Given the description of an element on the screen output the (x, y) to click on. 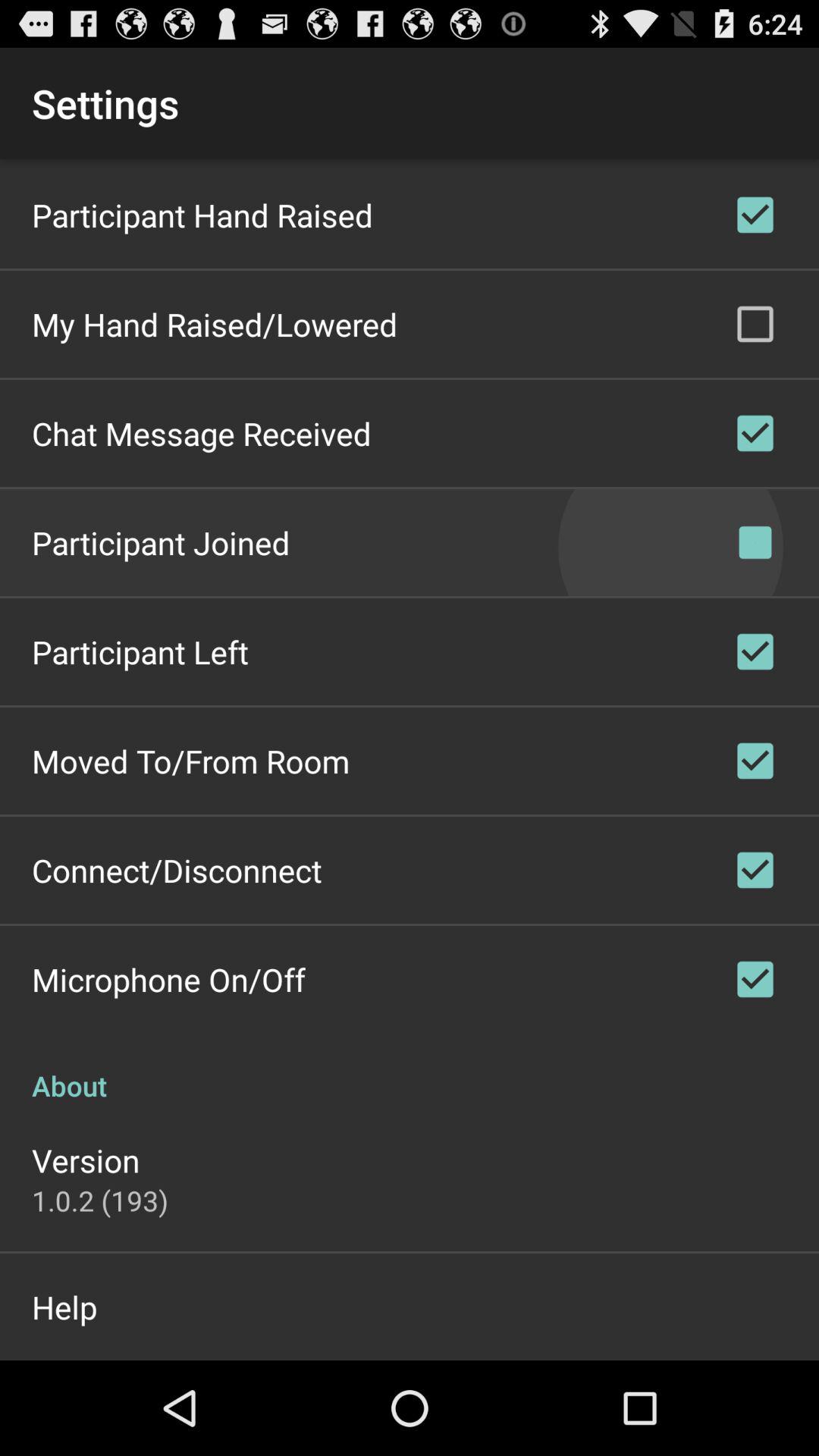
click on the check box which is to the right of moved tofrom room (755, 761)
select microphone onoff which is above about (755, 979)
select square button right to text my hand raisedlowered (755, 324)
